Given the description of an element on the screen output the (x, y) to click on. 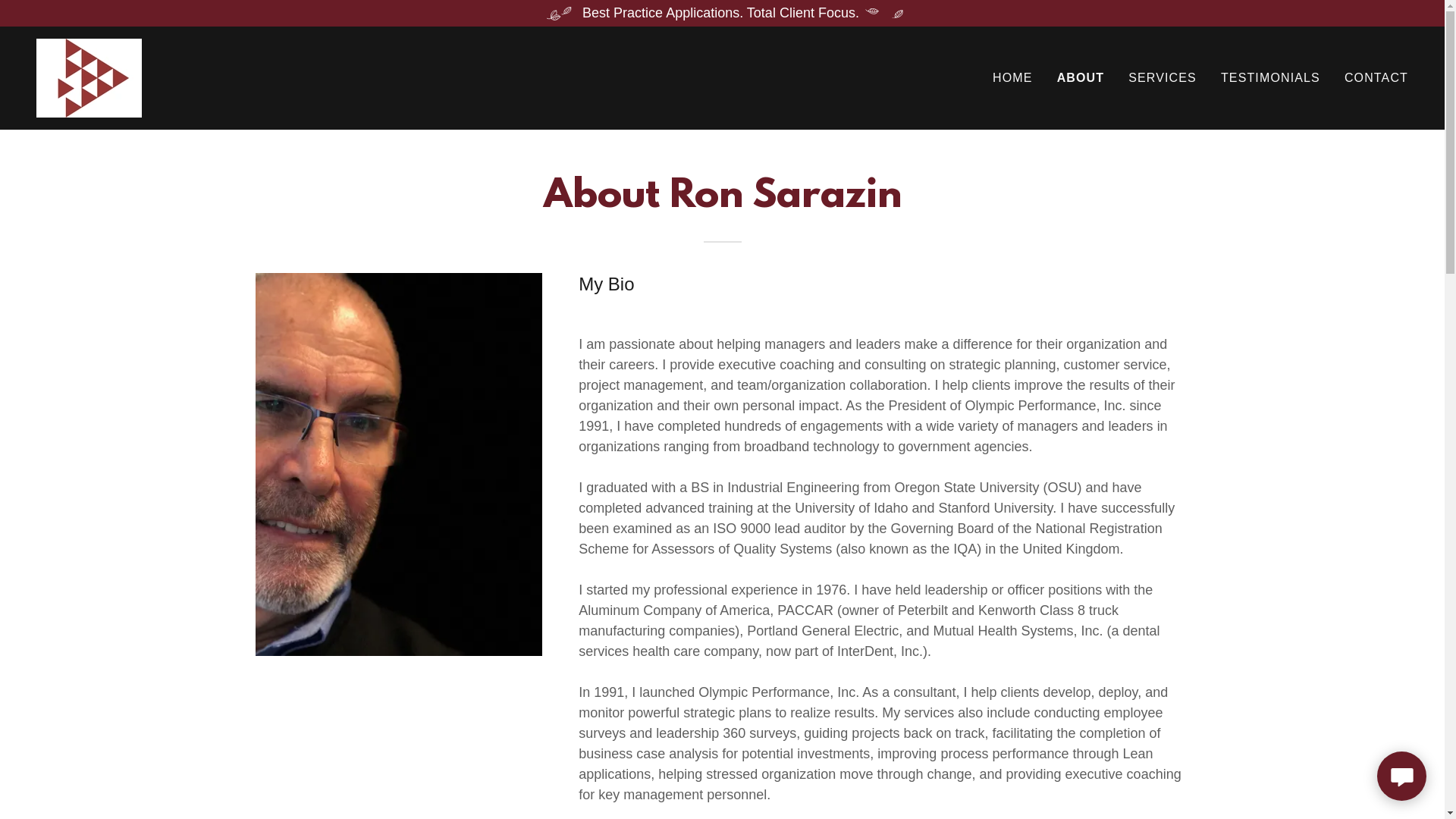
HOME Element type: text (1012, 77)
CONTACT Element type: text (1375, 77)
SERVICES Element type: text (1162, 77)
Olympic Performance, Inc. Element type: hover (88, 76)
TESTIMONIALS Element type: text (1270, 77)
ABOUT Element type: text (1080, 78)
